Given the description of an element on the screen output the (x, y) to click on. 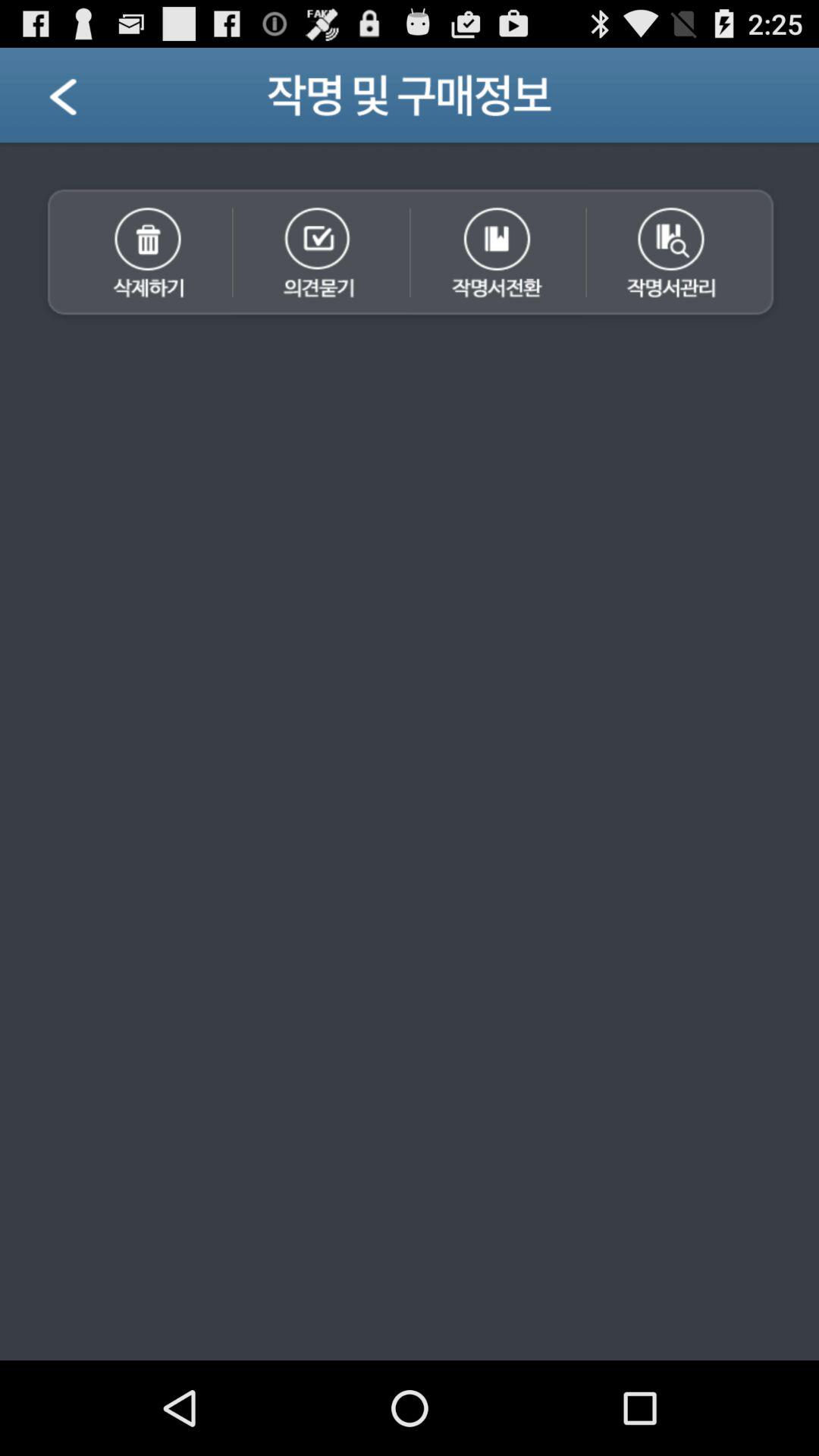
come back (81, 101)
